Given the description of an element on the screen output the (x, y) to click on. 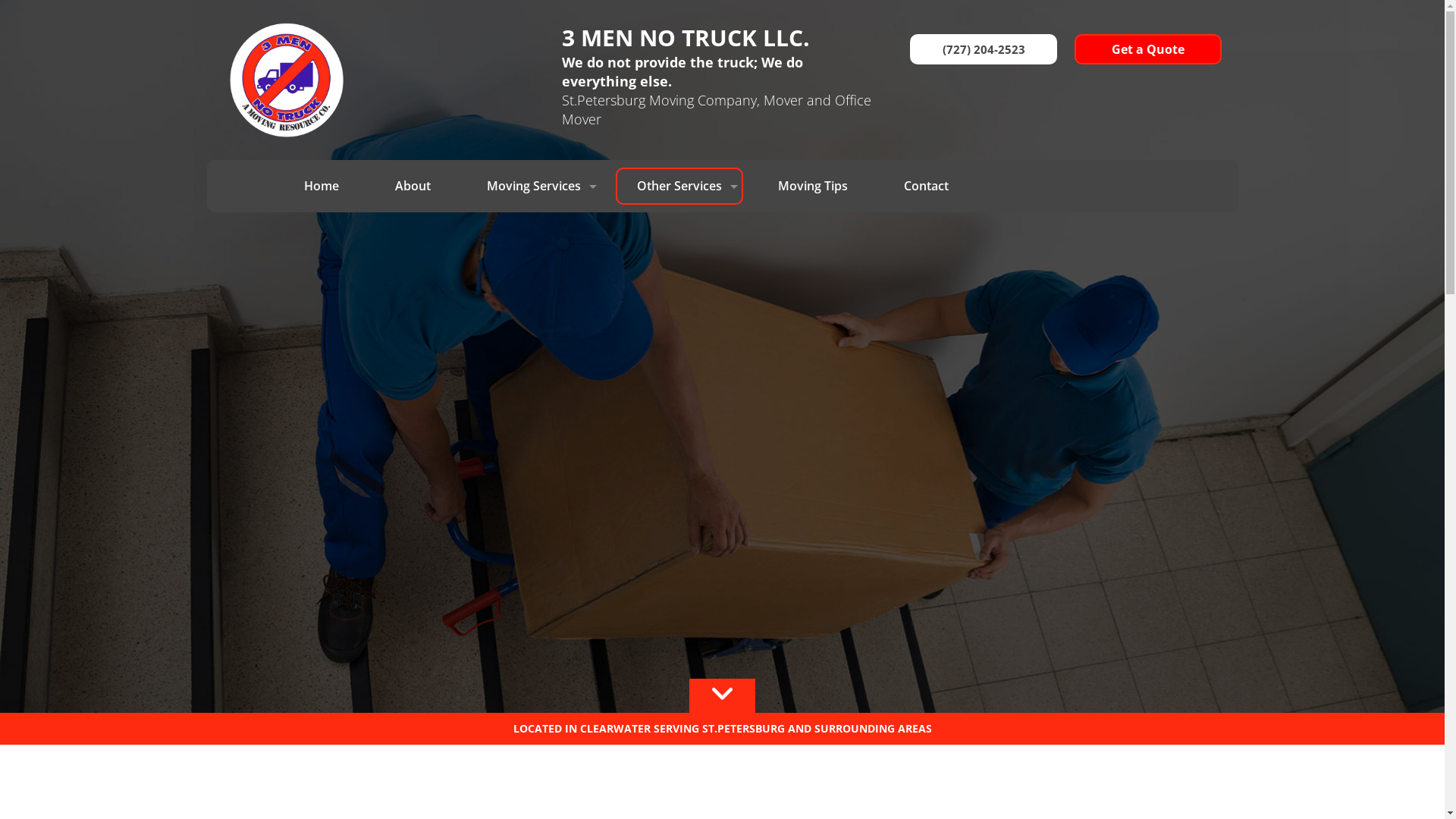
Long Distance Moving Element type: text (533, 219)
Contact Element type: text (925, 185)
Packing and Unpacking Element type: text (679, 222)
About Element type: text (412, 185)
Furniture Disassembly and Reassembly Element type: text (679, 334)
Other Services Element type: text (679, 185)
Lab and Medical Equipment Element type: text (533, 401)
Specialty Moving Element type: text (679, 260)
Packing Supplies Element type: text (679, 297)
Moving Services Element type: text (533, 185)
(727) 204-2523 Element type: text (983, 49)
Office Moving Element type: text (533, 371)
Industrial Moving Element type: text (533, 341)
Home Movers Element type: text (533, 310)
Home Element type: text (321, 185)
Commercial Movers Element type: text (533, 250)
3 MEN NO TRUCK LLC. Element type: text (716, 37)
Moving Tips Element type: text (812, 185)
Local Moves Element type: text (533, 280)
